Given the description of an element on the screen output the (x, y) to click on. 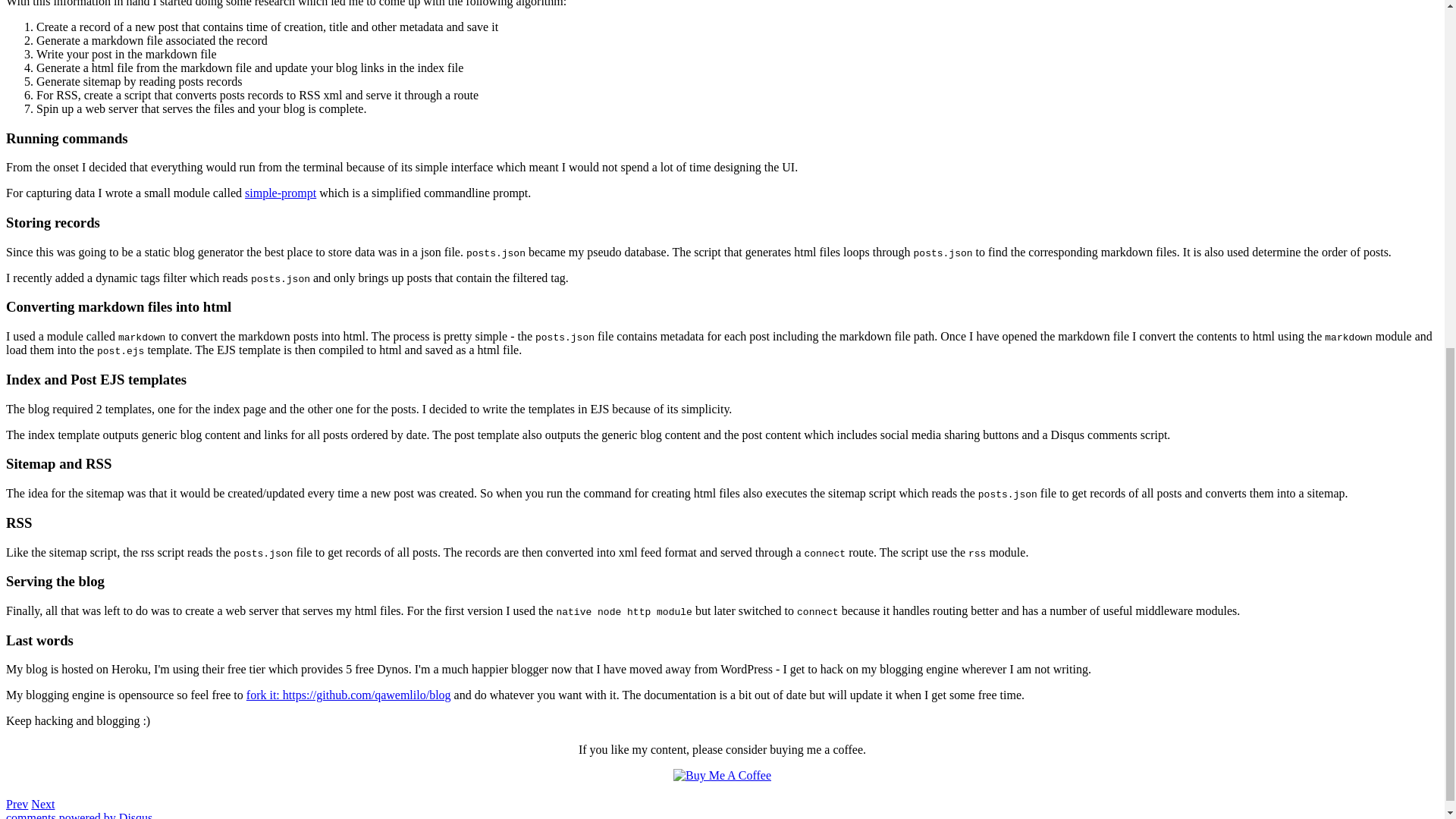
Previous Post (16, 803)
Next Post (42, 803)
simple-prompt (279, 192)
Next (42, 803)
Prev (16, 803)
